Given the description of an element on the screen output the (x, y) to click on. 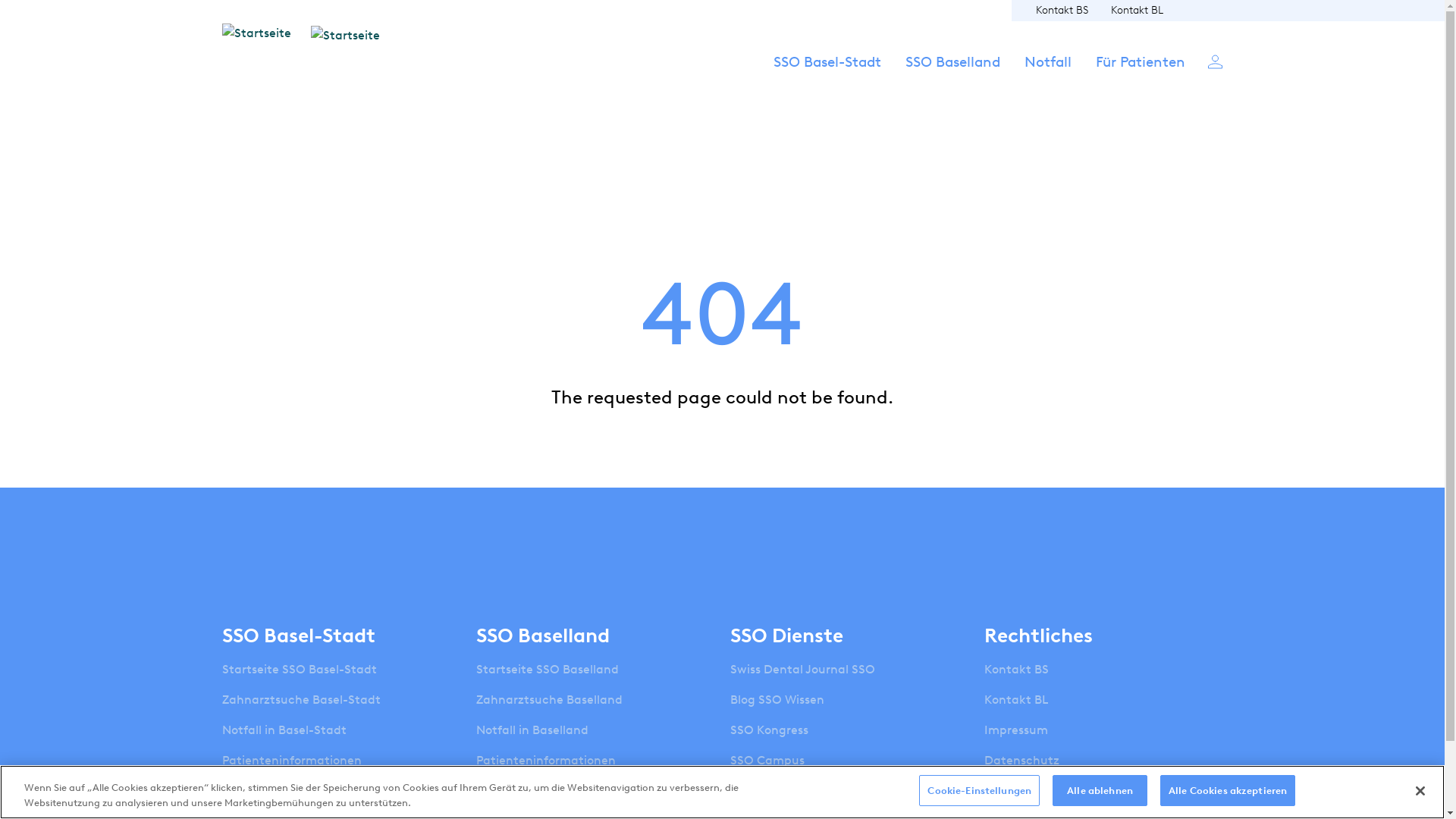
Notfall in Basel-Stadt Element type: text (283, 729)
Anmelden Element type: text (1214, 61)
Skip to main content Element type: text (0, 0)
Datenschutz Element type: text (1021, 760)
SSO Baselland Element type: text (952, 75)
SSO Campus Element type: text (767, 760)
Startseite SSO Baselland Element type: text (547, 669)
Patienteninformationen Element type: text (290, 760)
Kontakt BL Element type: text (1016, 699)
Cookie-Einstellungen Element type: text (979, 790)
Kontakt BS Element type: text (1016, 669)
Kontakt BS Element type: text (1061, 9)
Berufsbildung Element type: text (261, 790)
SSO Basel-Stadt Element type: text (827, 75)
Impressum Element type: text (1016, 729)
Kontakt BL Element type: text (1136, 9)
Alle Cookies akzeptieren Element type: text (1227, 790)
Alle ablehnen Element type: text (1099, 790)
Startseite SSO Basel-Stadt Element type: text (298, 669)
SSO Kongress Element type: text (769, 729)
Zahnarztsuche Basel-Stadt Element type: text (300, 699)
Notfall Element type: text (1046, 75)
Notfall in Baselland Element type: text (532, 729)
Swiss Dental Journal SSO Element type: text (802, 669)
Zahnarztsuche Baselland Element type: text (549, 699)
Berufsbildung Element type: text (516, 790)
Apply Element type: text (947, 437)
Blog SSO Wissen Element type: text (777, 699)
Patienteninformationen Element type: text (545, 760)
